Given the description of an element on the screen output the (x, y) to click on. 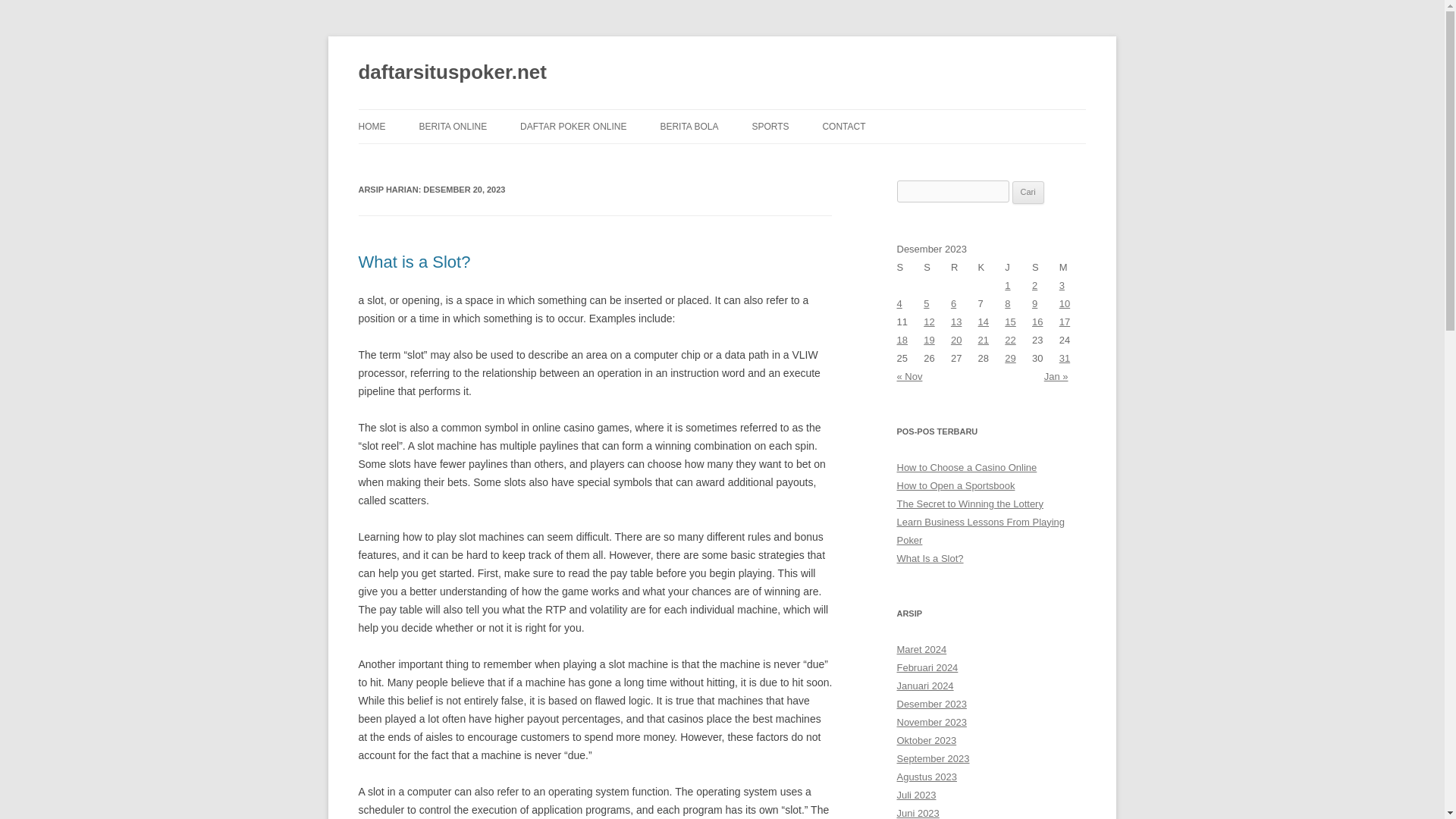
Senin (909, 267)
Cari (1027, 191)
Sabtu (1045, 267)
12 (928, 321)
31 (1064, 357)
19 (928, 339)
Selasa (936, 267)
10 (1064, 303)
20 (955, 339)
Minggu (1072, 267)
BERITA BOLA (688, 126)
CONTACT (843, 126)
What is a Slot? (414, 261)
daftarsituspoker.net (452, 72)
How to Choose a Casino Online (966, 467)
